Given the description of an element on the screen output the (x, y) to click on. 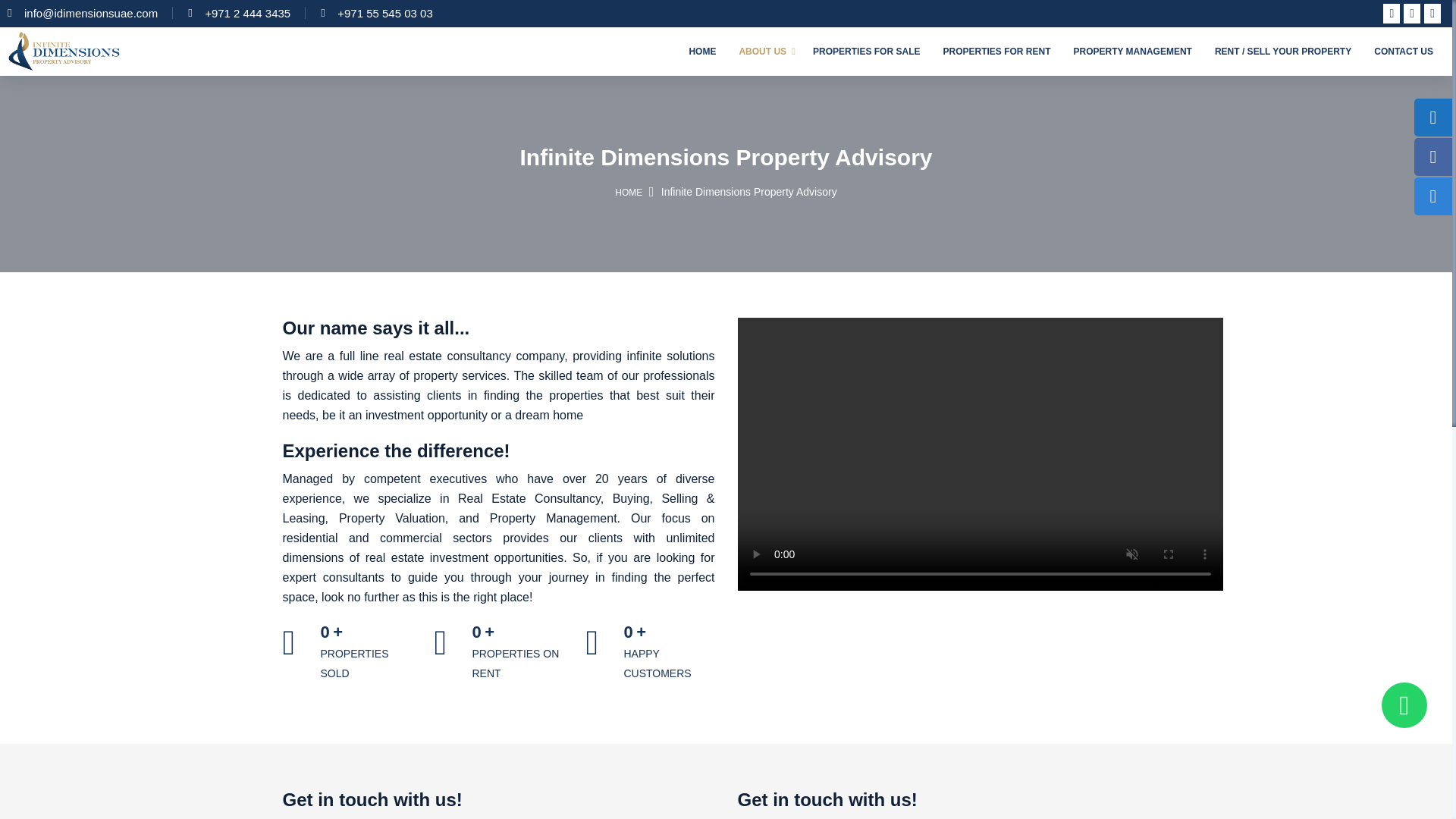
ABOUT US (764, 51)
PROPERTY MANAGEMENT (1131, 51)
PROPERTIES FOR SALE (866, 51)
HOME (628, 192)
HOME (701, 51)
PROPERTIES FOR RENT (996, 51)
CONTACT US (1403, 51)
